Given the description of an element on the screen output the (x, y) to click on. 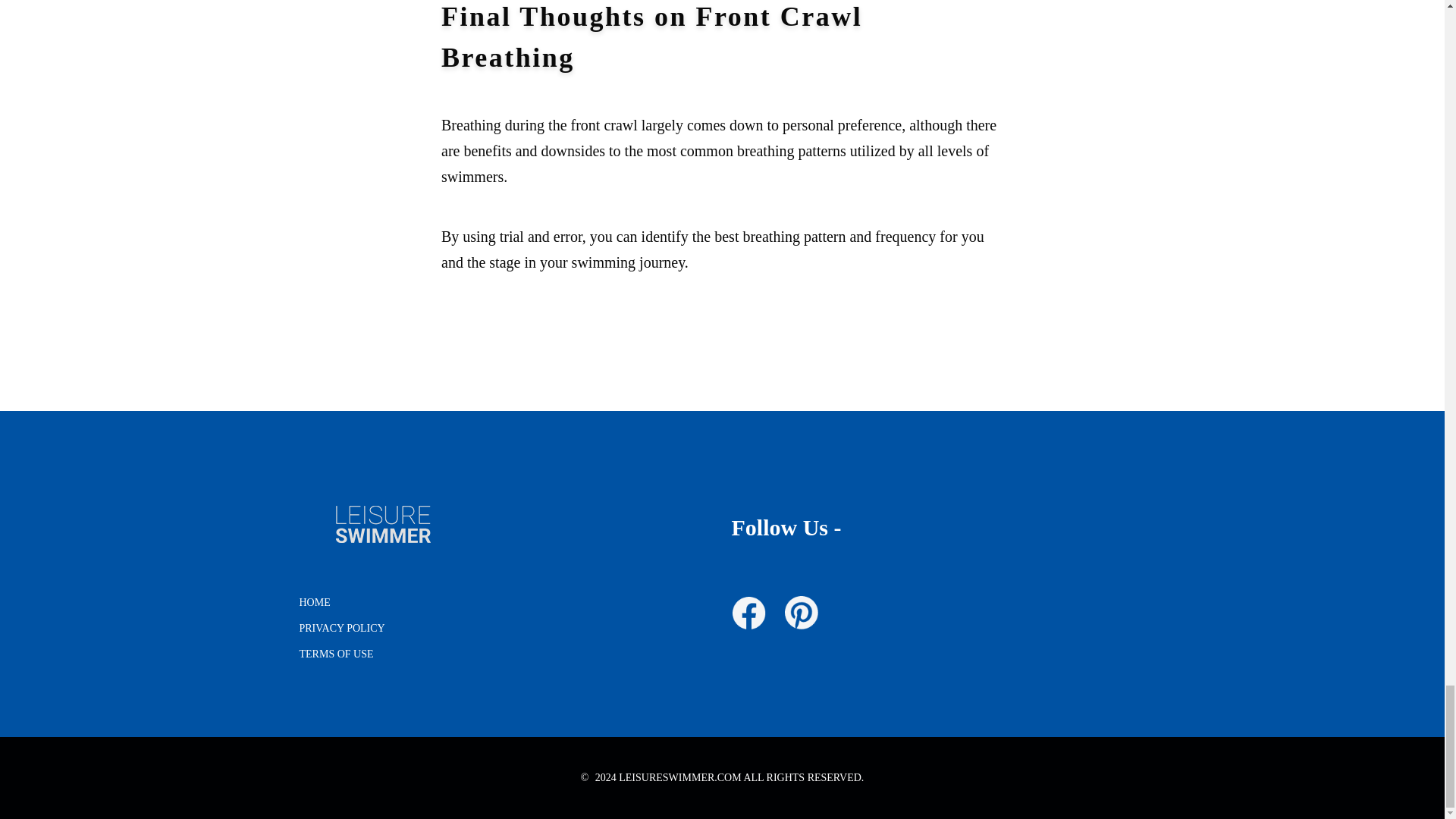
PRIVACY POLICY (341, 627)
TERMS OF USE (335, 654)
HOME (314, 602)
